Given the description of an element on the screen output the (x, y) to click on. 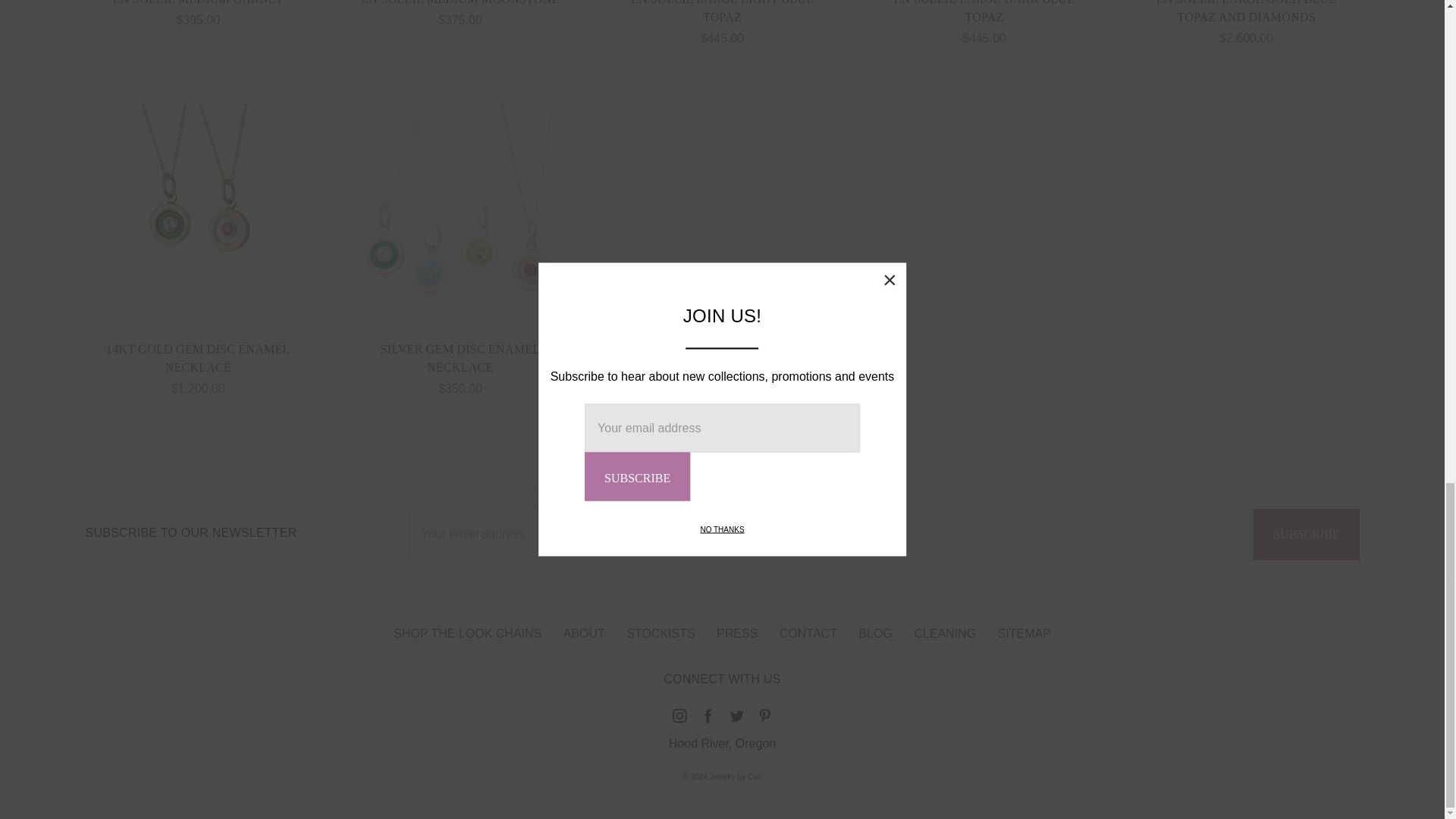
Subscribe (1305, 534)
14kt Gold Gem Disc Enamel Necklace (198, 207)
Silver Gem Disc Enamel Necklace (459, 207)
